Given the description of an element on the screen output the (x, y) to click on. 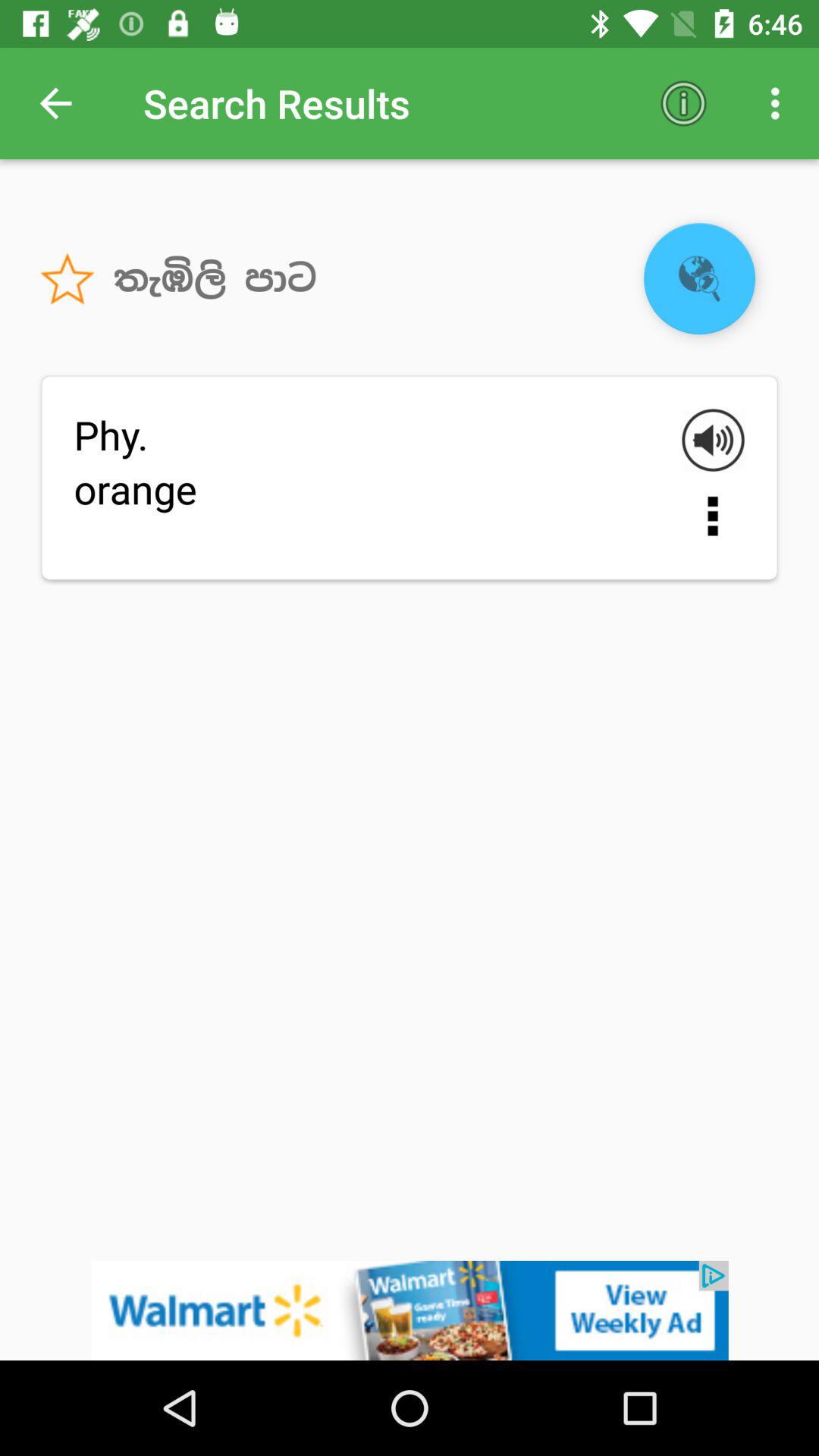
search (699, 278)
